Given the description of an element on the screen output the (x, y) to click on. 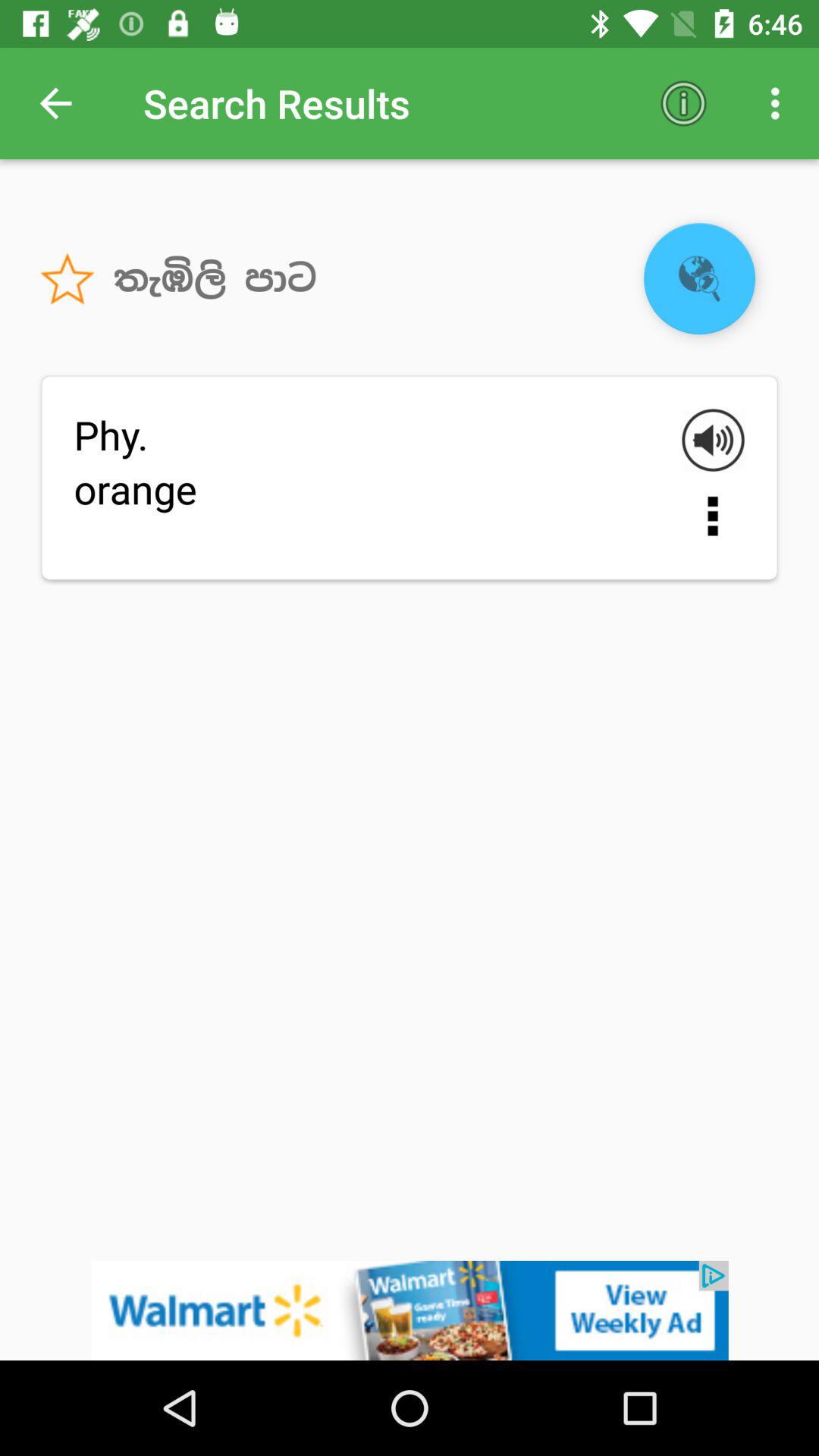
search (699, 278)
